Given the description of an element on the screen output the (x, y) to click on. 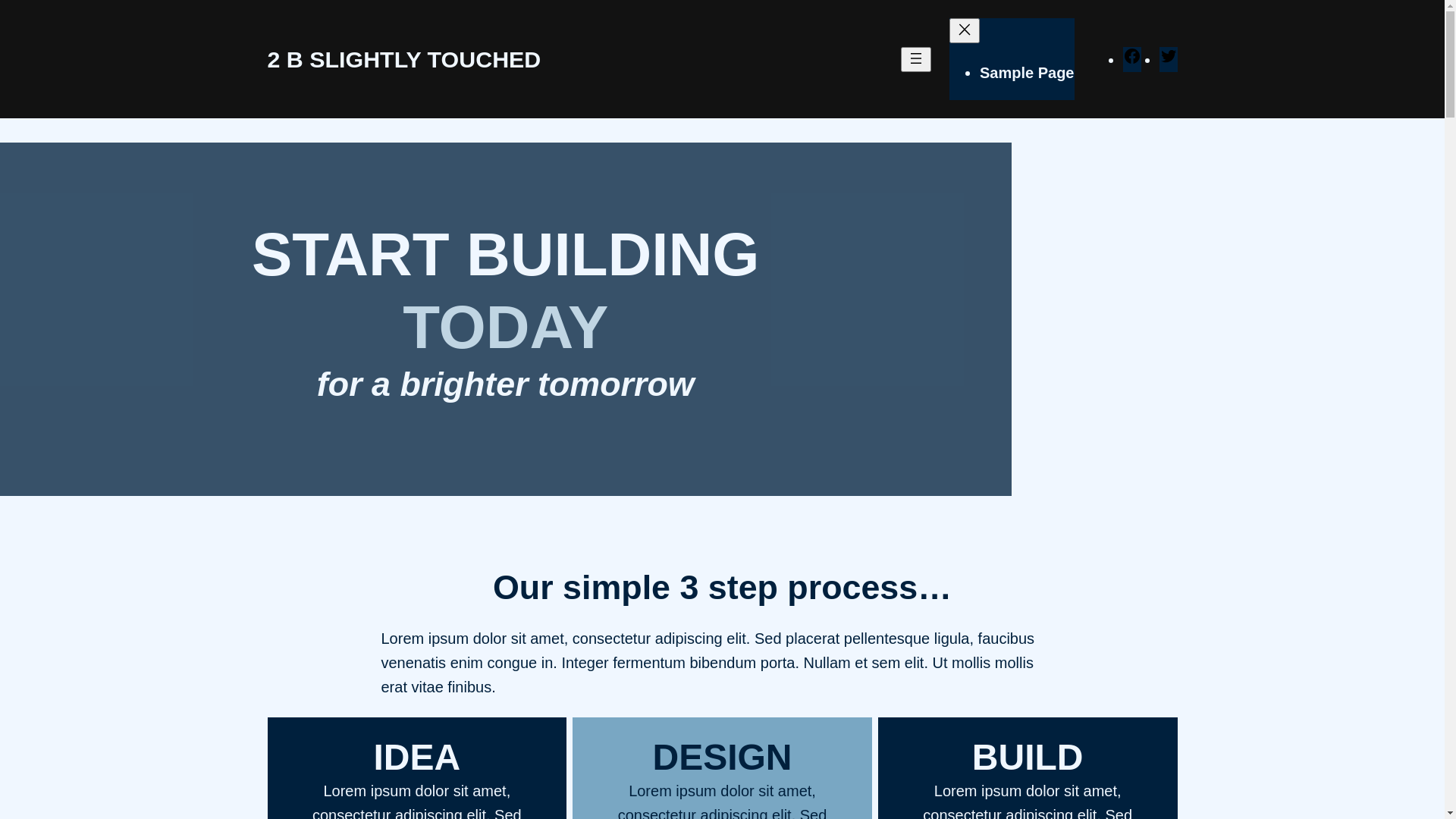
Sample Page Element type: text (1026, 72)
Facebook Element type: text (1131, 59)
Twitter Element type: text (1167, 59)
2 B SLIGHTLY TOUCHED Element type: text (403, 59)
